Given the description of an element on the screen output the (x, y) to click on. 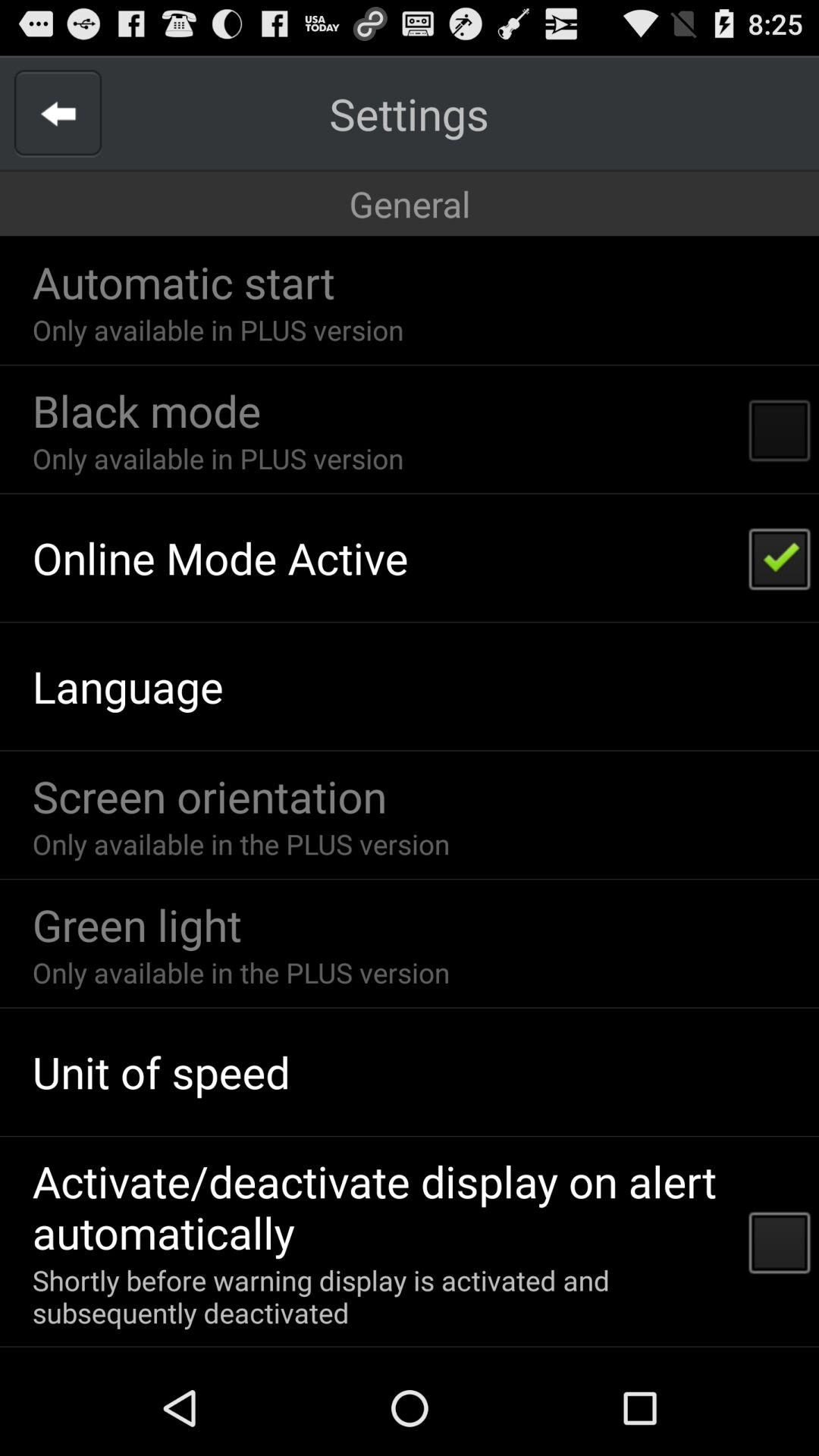
scroll to language item (127, 685)
